Given the description of an element on the screen output the (x, y) to click on. 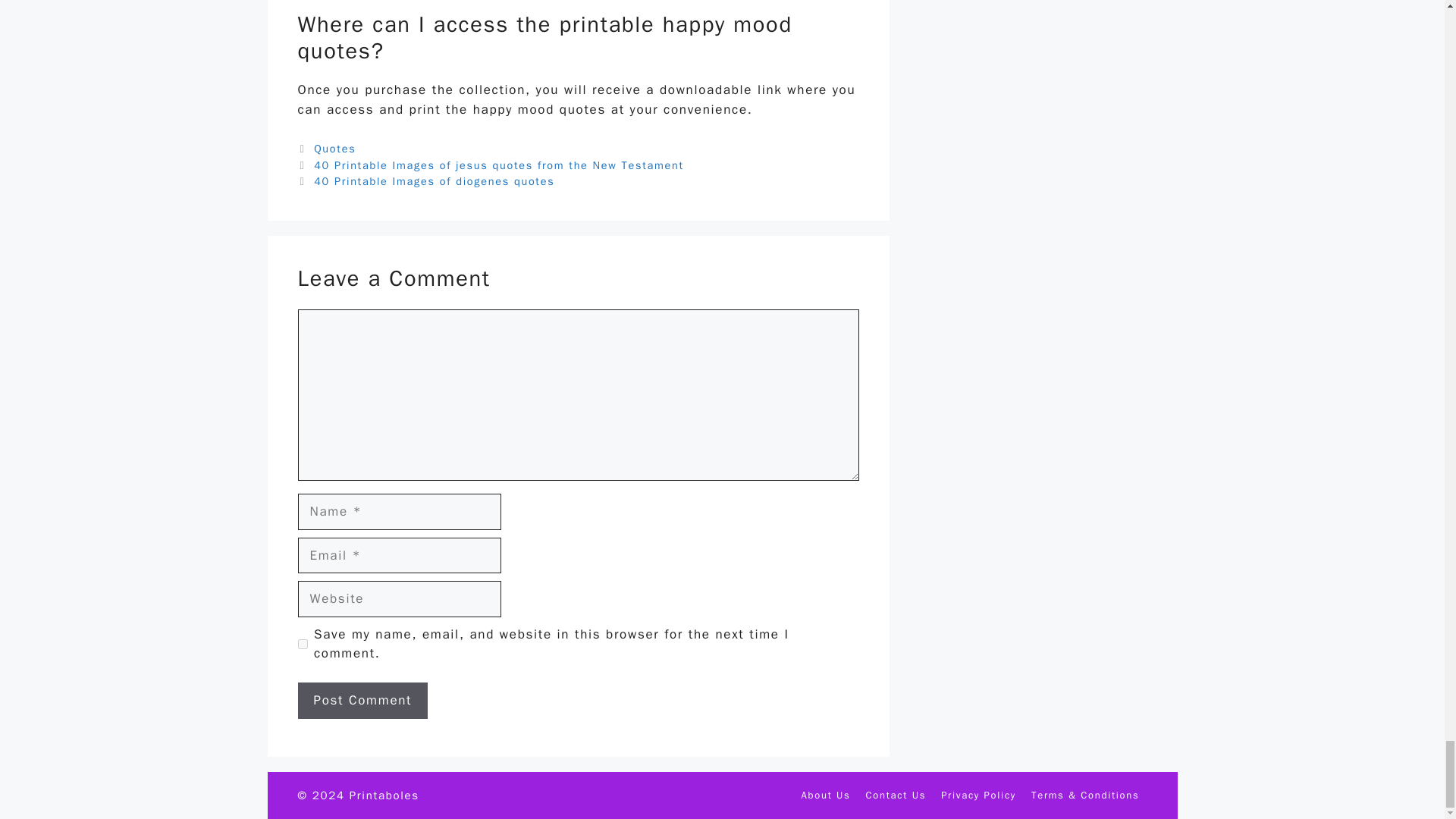
yes (302, 644)
Post Comment (362, 700)
